Given the description of an element on the screen output the (x, y) to click on. 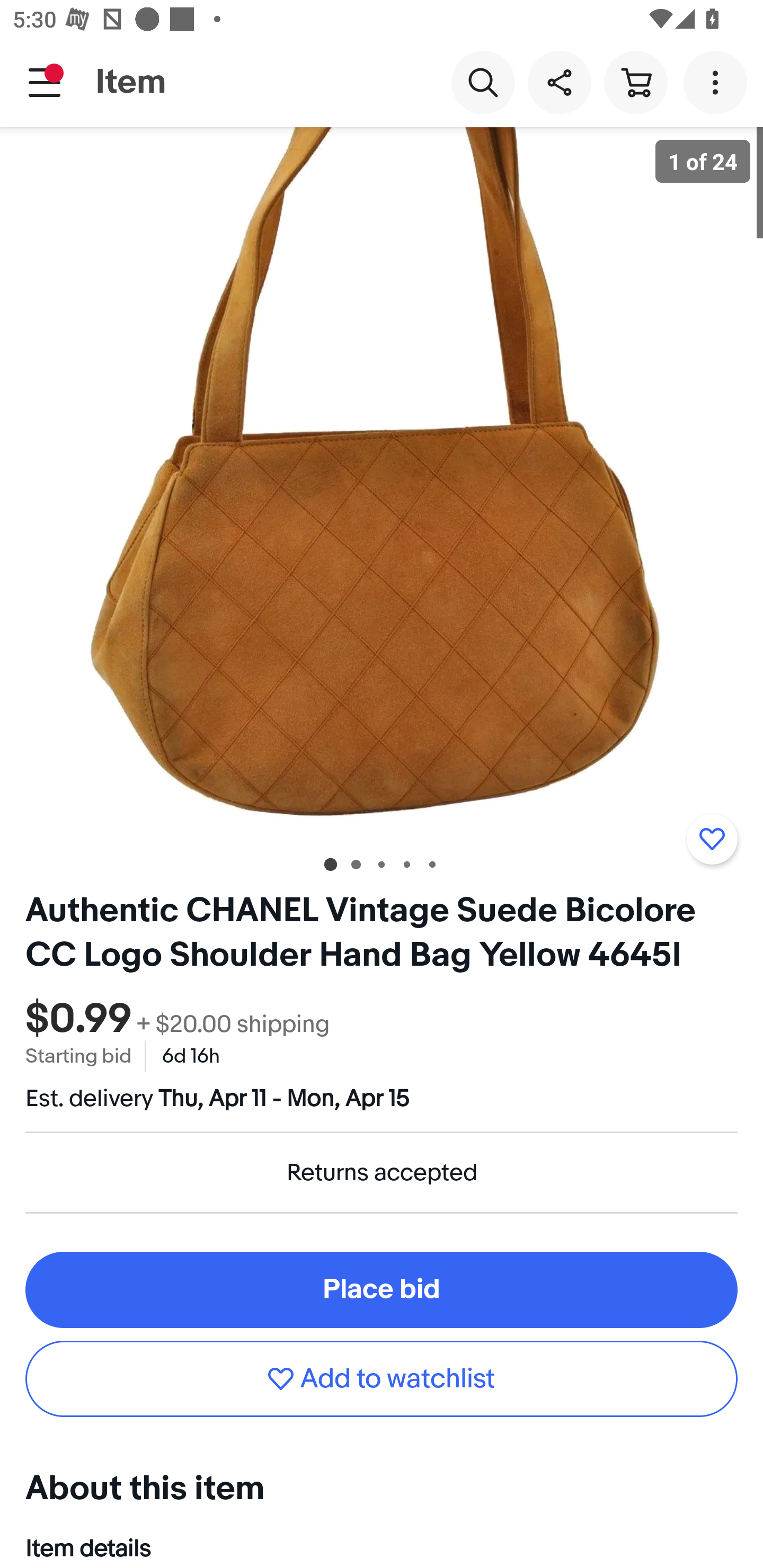
Main navigation, notification is pending, open (44, 82)
Search (482, 81)
Share this item (559, 81)
Cart button shopping cart (635, 81)
More options (718, 81)
Item image 1 of 24 (381, 482)
Add to watchlist (711, 838)
Place bid (381, 1289)
Add to watchlist (381, 1378)
